Given the description of an element on the screen output the (x, y) to click on. 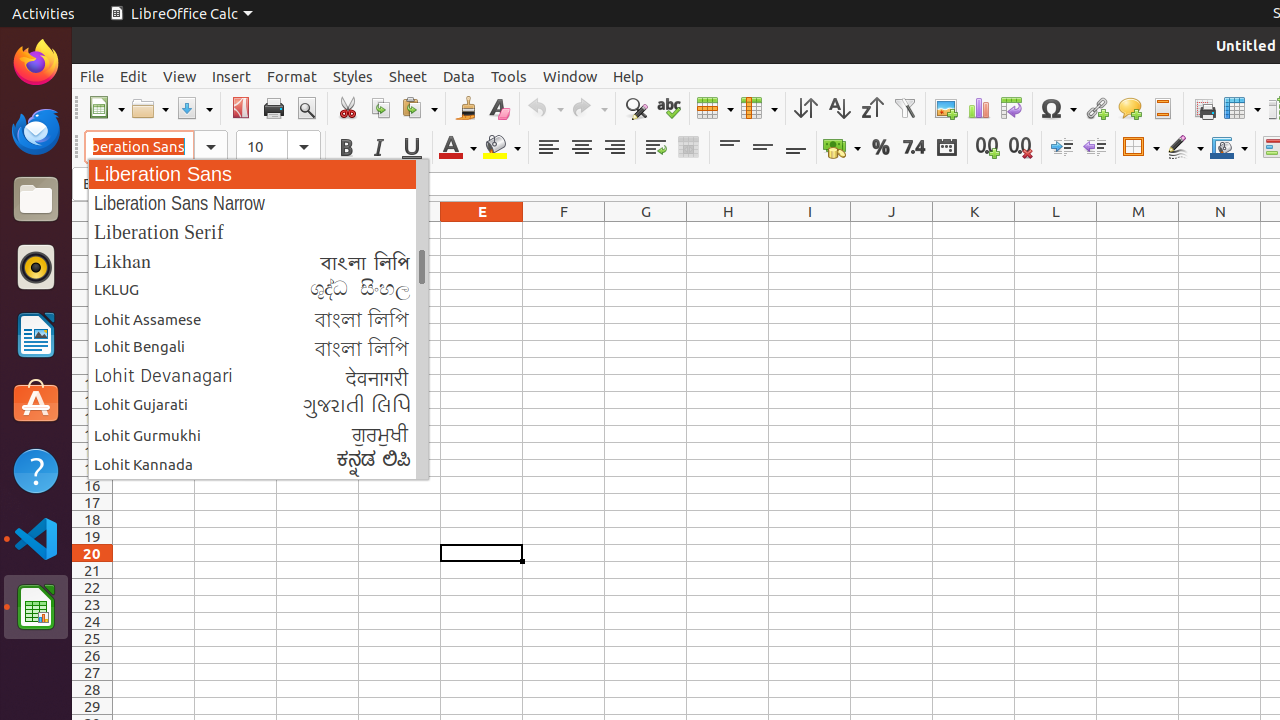
Currency Element type: push-button (842, 147)
M1 Element type: table-cell (1138, 230)
Print Element type: push-button (273, 108)
Edit Element type: menu (133, 76)
Lohit Assamese Element type: list-item (258, 318)
